Given the description of an element on the screen output the (x, y) to click on. 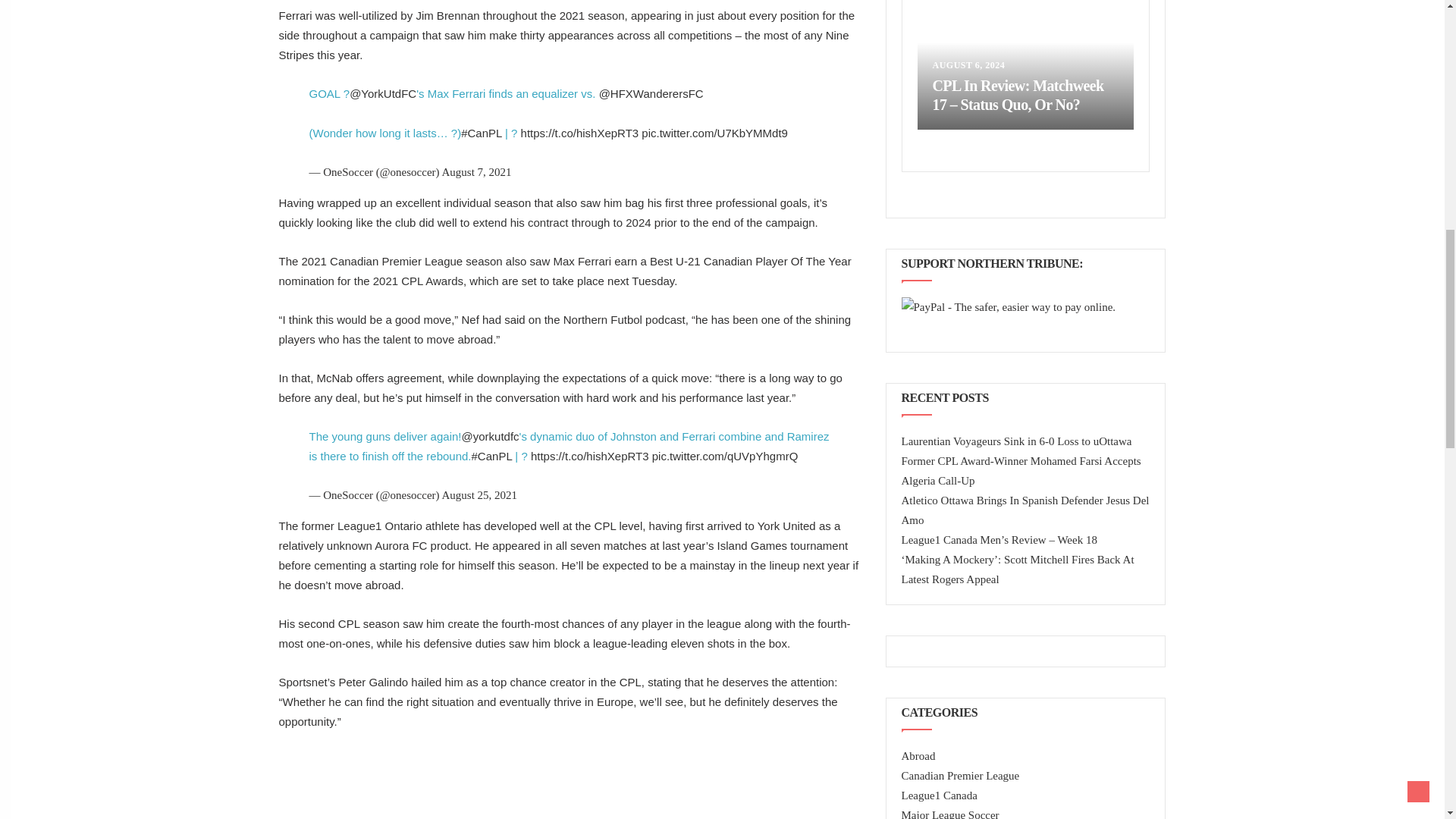
August 7, 2021 (476, 172)
extend his contract through to 2024 (560, 222)
2021 CPL Awards (417, 280)
